Given the description of an element on the screen output the (x, y) to click on. 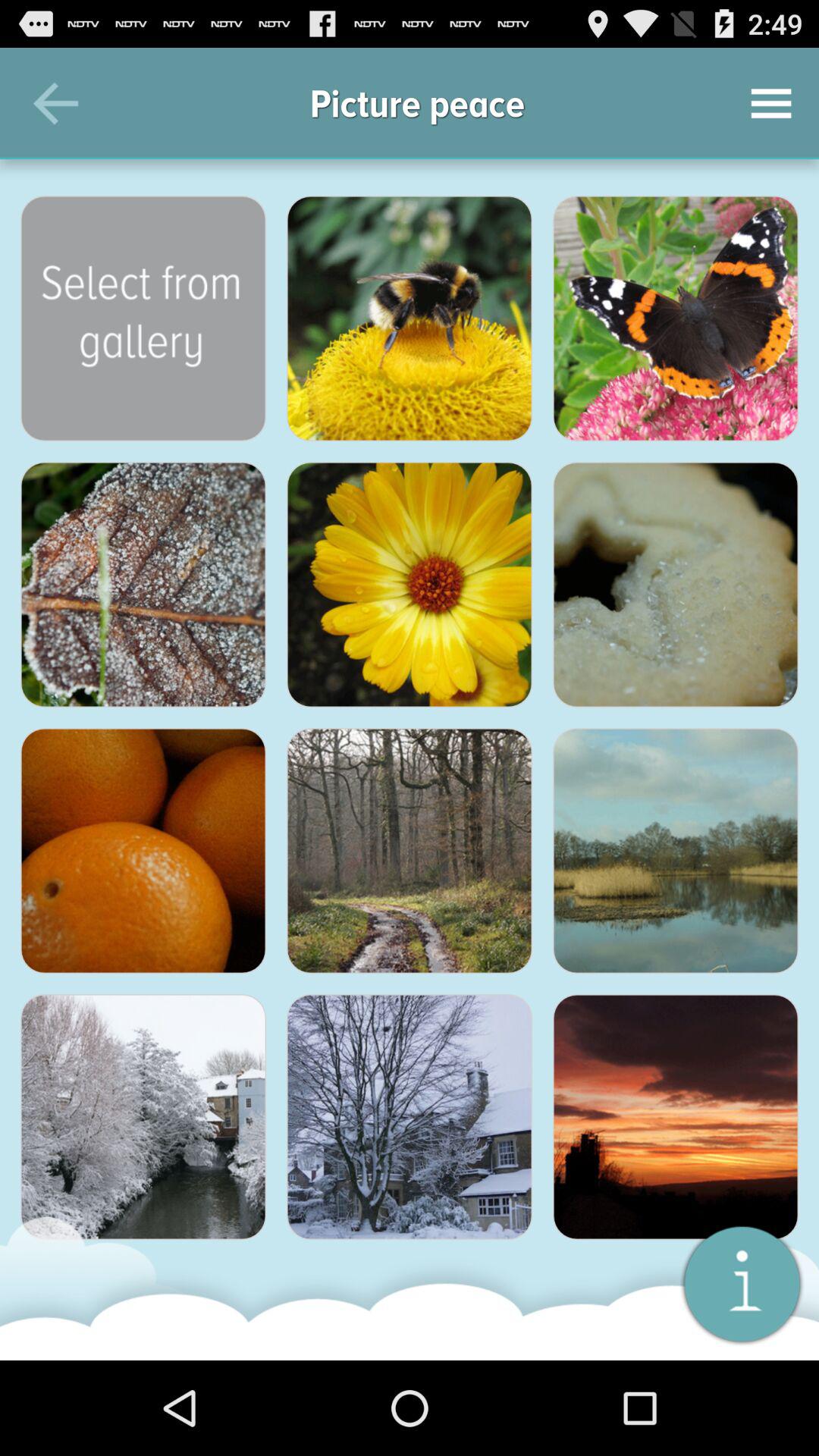
choose picture (675, 850)
